Given the description of an element on the screen output the (x, y) to click on. 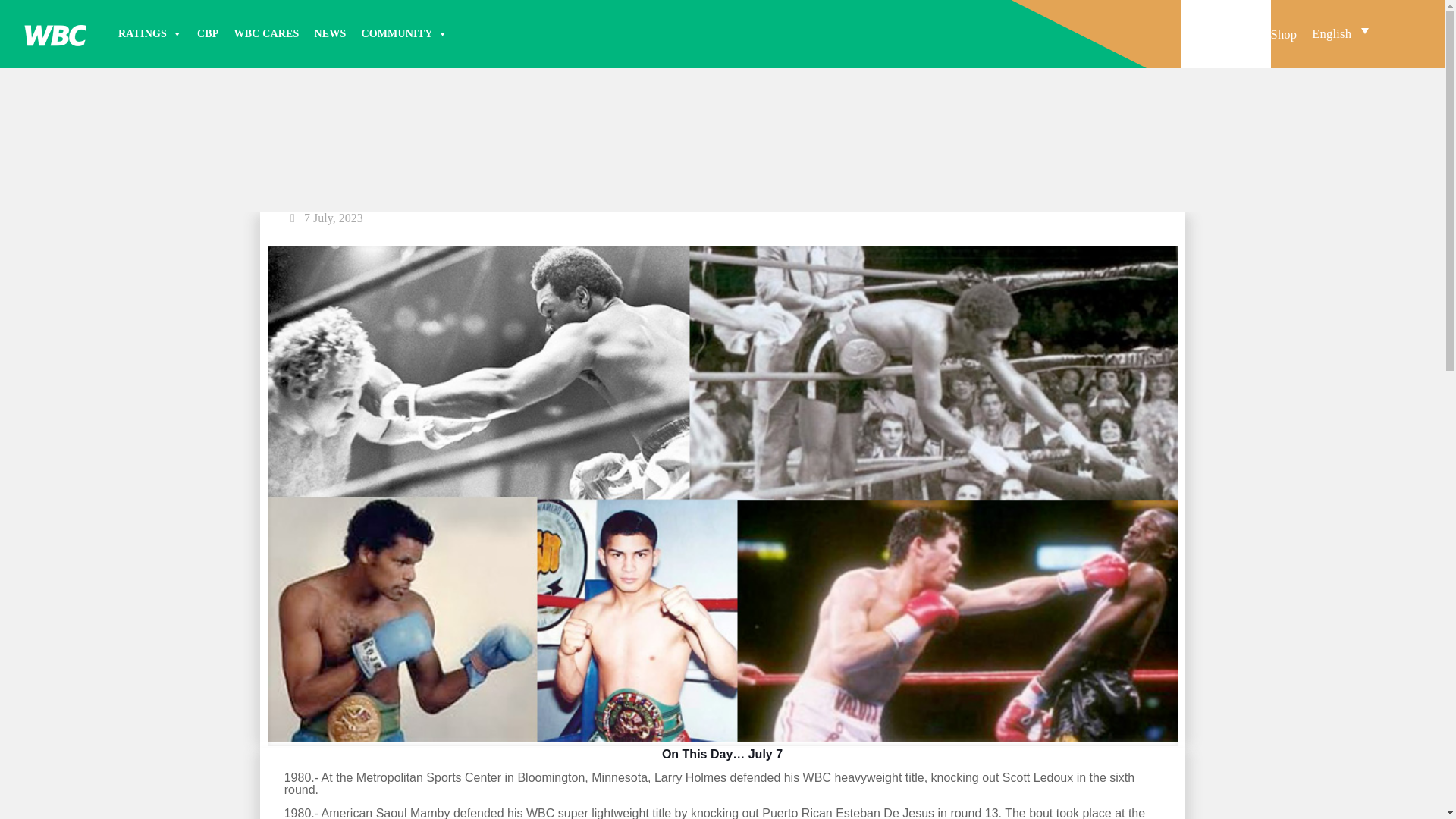
RATINGS (149, 33)
World Boxing Council (55, 33)
